Given the description of an element on the screen output the (x, y) to click on. 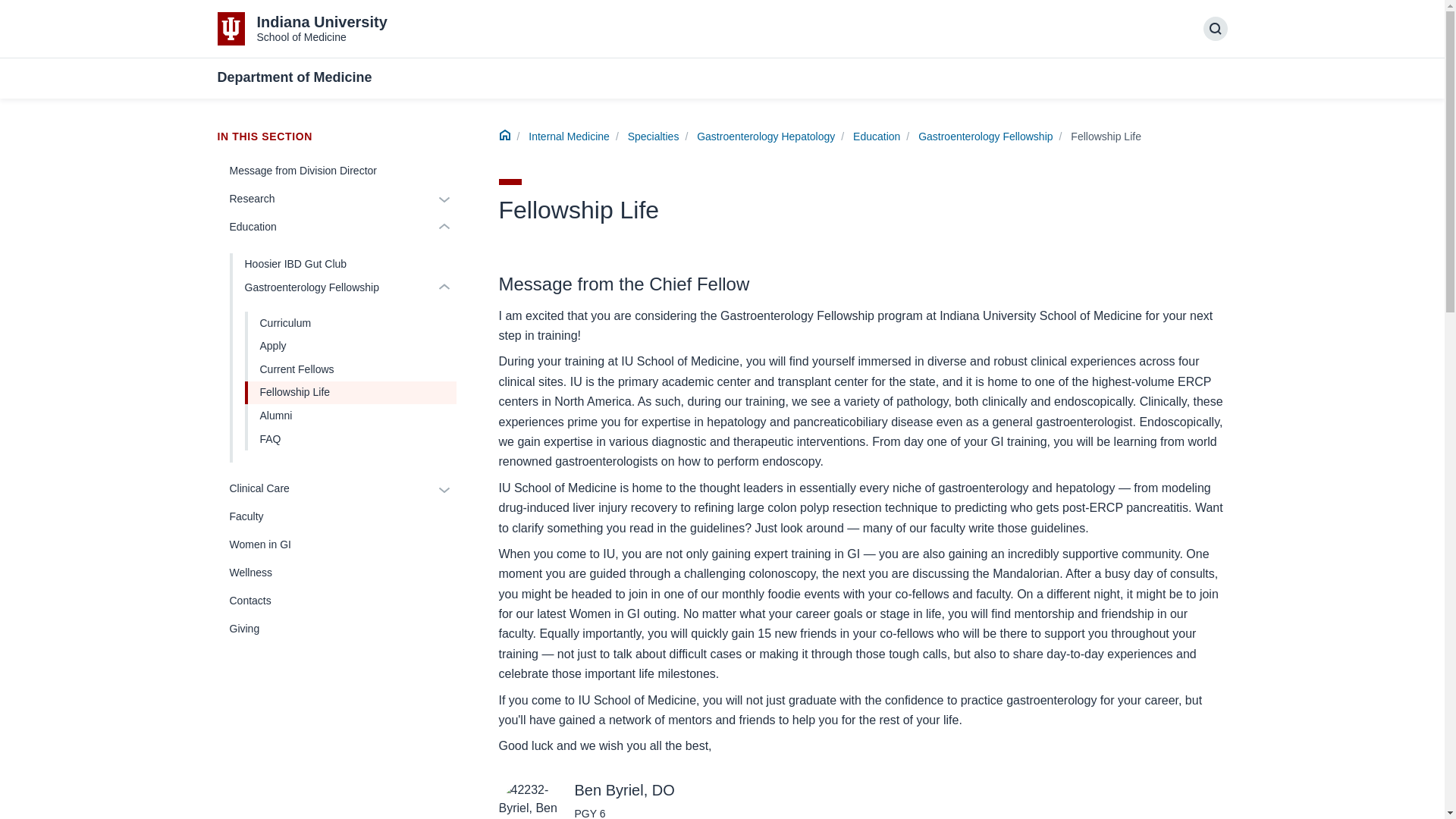
42232-Byriel, Ben (529, 799)
Research (323, 198)
Hoosier IBD Gut Club (343, 264)
Internal Medicine (569, 136)
Specialties (653, 136)
FAQ (351, 439)
Education (876, 136)
Faculty (335, 516)
Apply (351, 345)
Gastroenterology Fellowship (330, 287)
Gastroenterology Fellowship (301, 28)
Home (985, 136)
Fellowship Life (505, 137)
Toggle Search Box (351, 392)
